Given the description of an element on the screen output the (x, y) to click on. 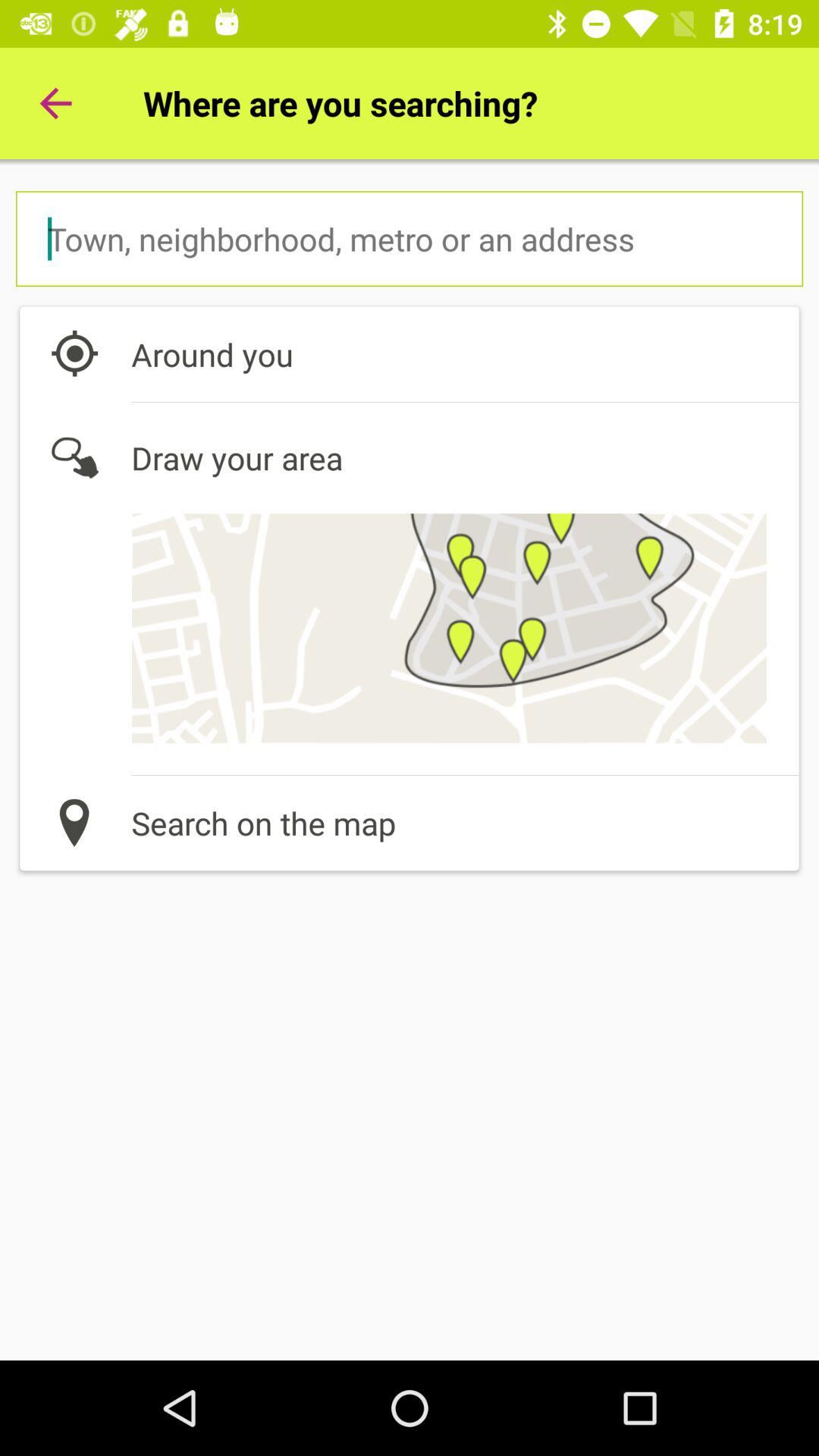
click the item to the left of where are you icon (55, 103)
